Given the description of an element on the screen output the (x, y) to click on. 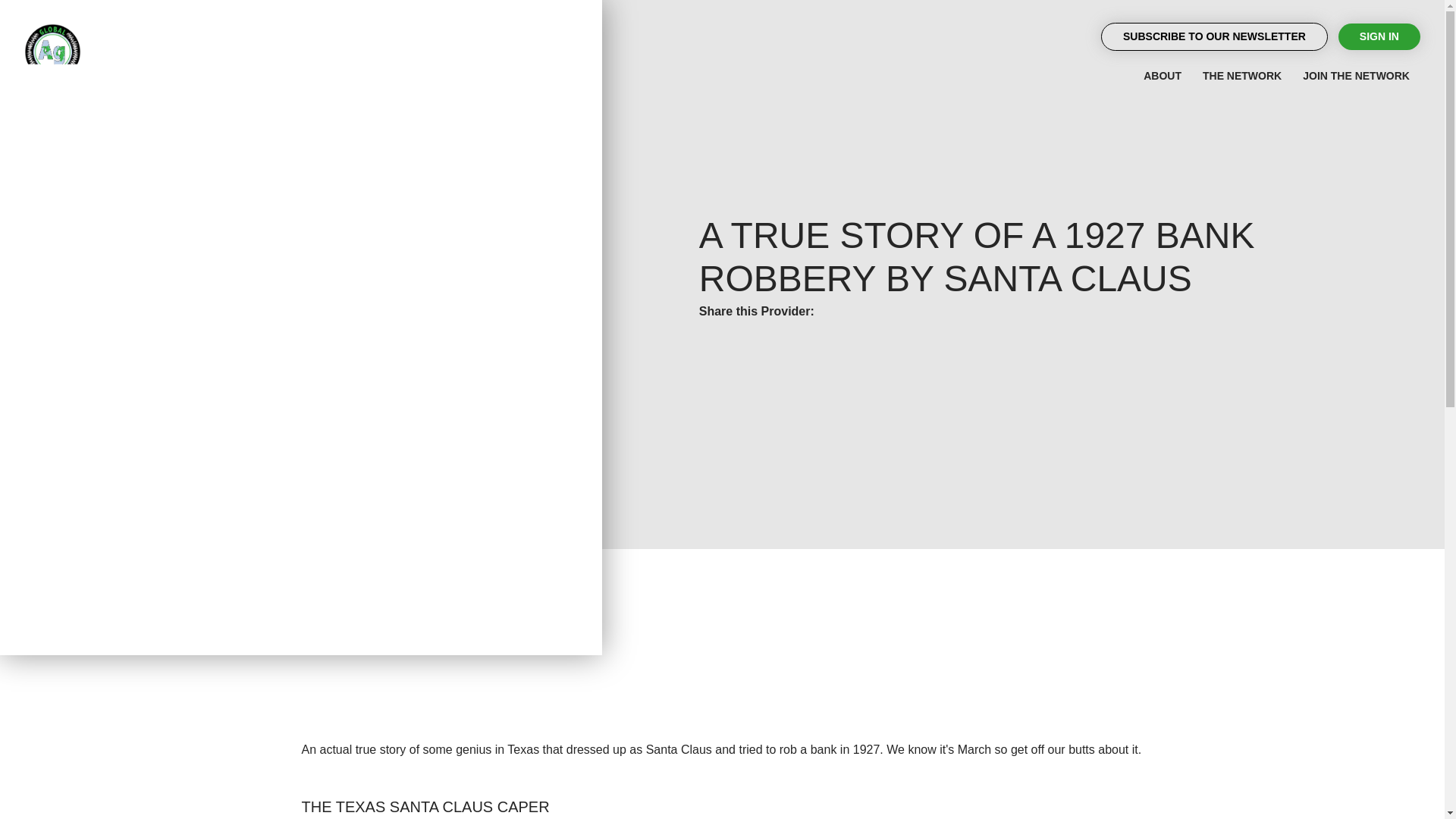
SUBSCRIBE TO OUR NEWSLETTER (1213, 36)
JOIN THE NETWORK (1356, 75)
SIGN IN (1379, 36)
THE NETWORK (1242, 75)
ABOUT (1162, 75)
